Given the description of an element on the screen output the (x, y) to click on. 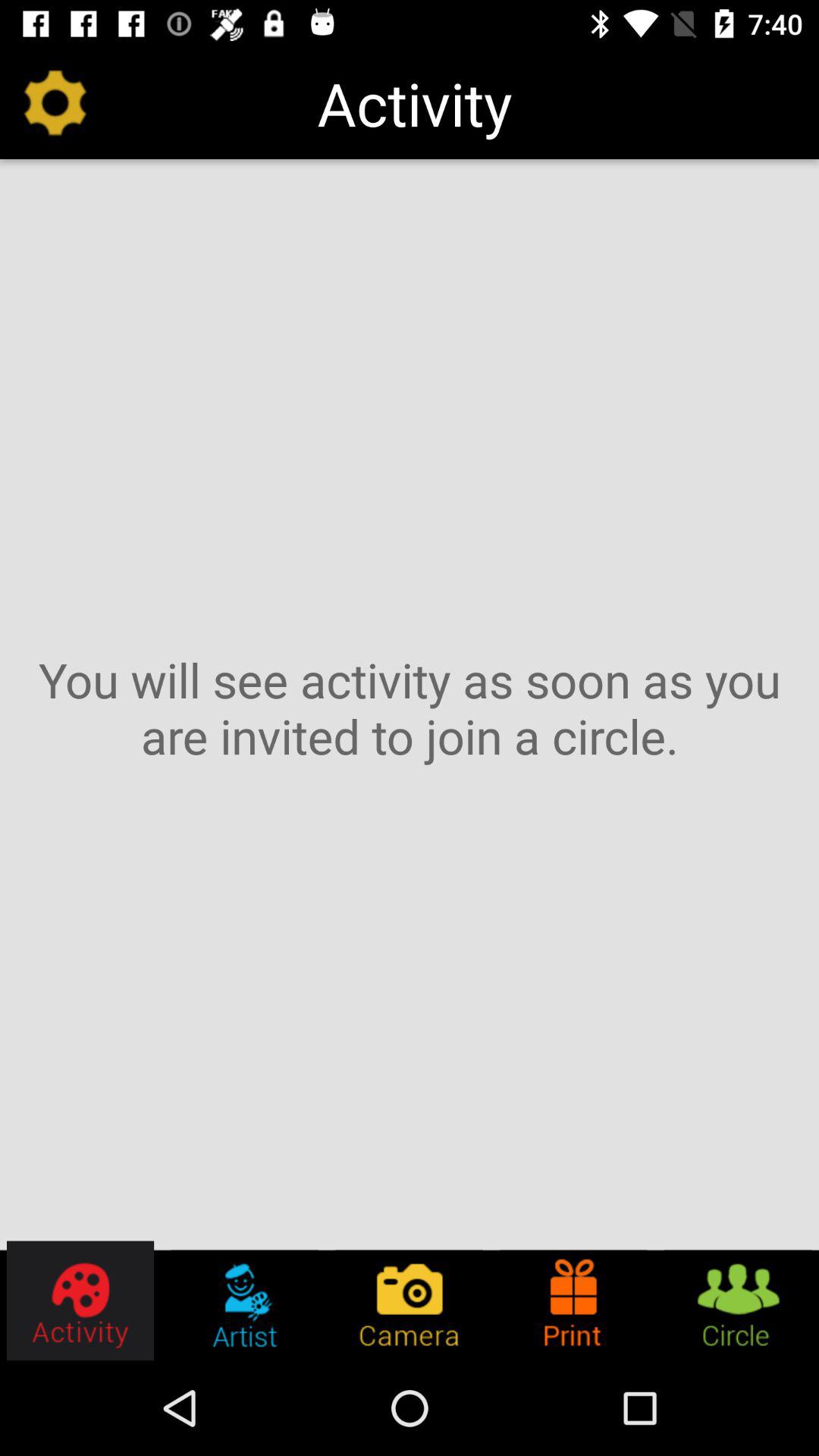
tap the item at the top left corner (55, 103)
